Given the description of an element on the screen output the (x, y) to click on. 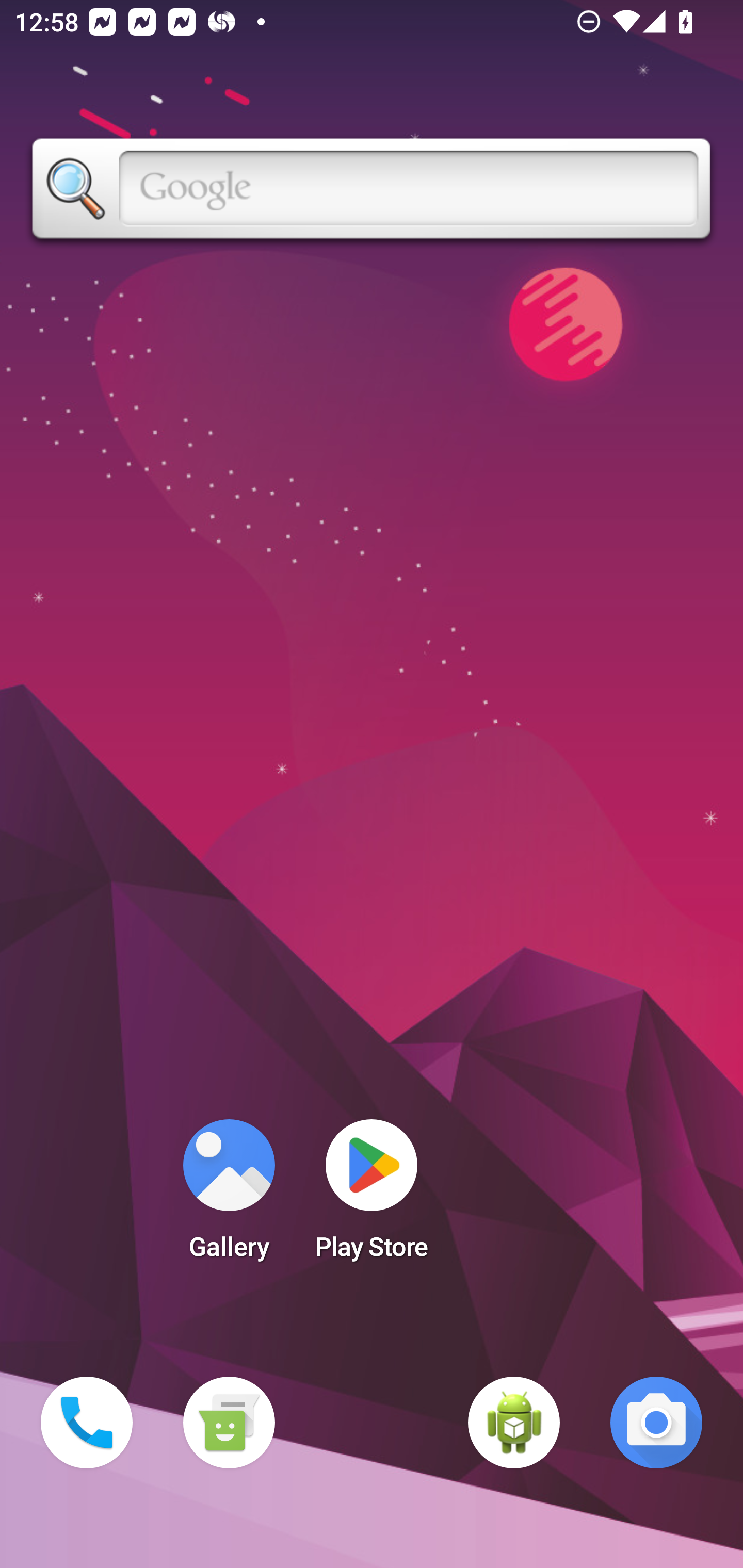
Gallery (228, 1195)
Play Store (371, 1195)
Phone (86, 1422)
Messaging (228, 1422)
WebView Browser Tester (513, 1422)
Camera (656, 1422)
